Given the description of an element on the screen output the (x, y) to click on. 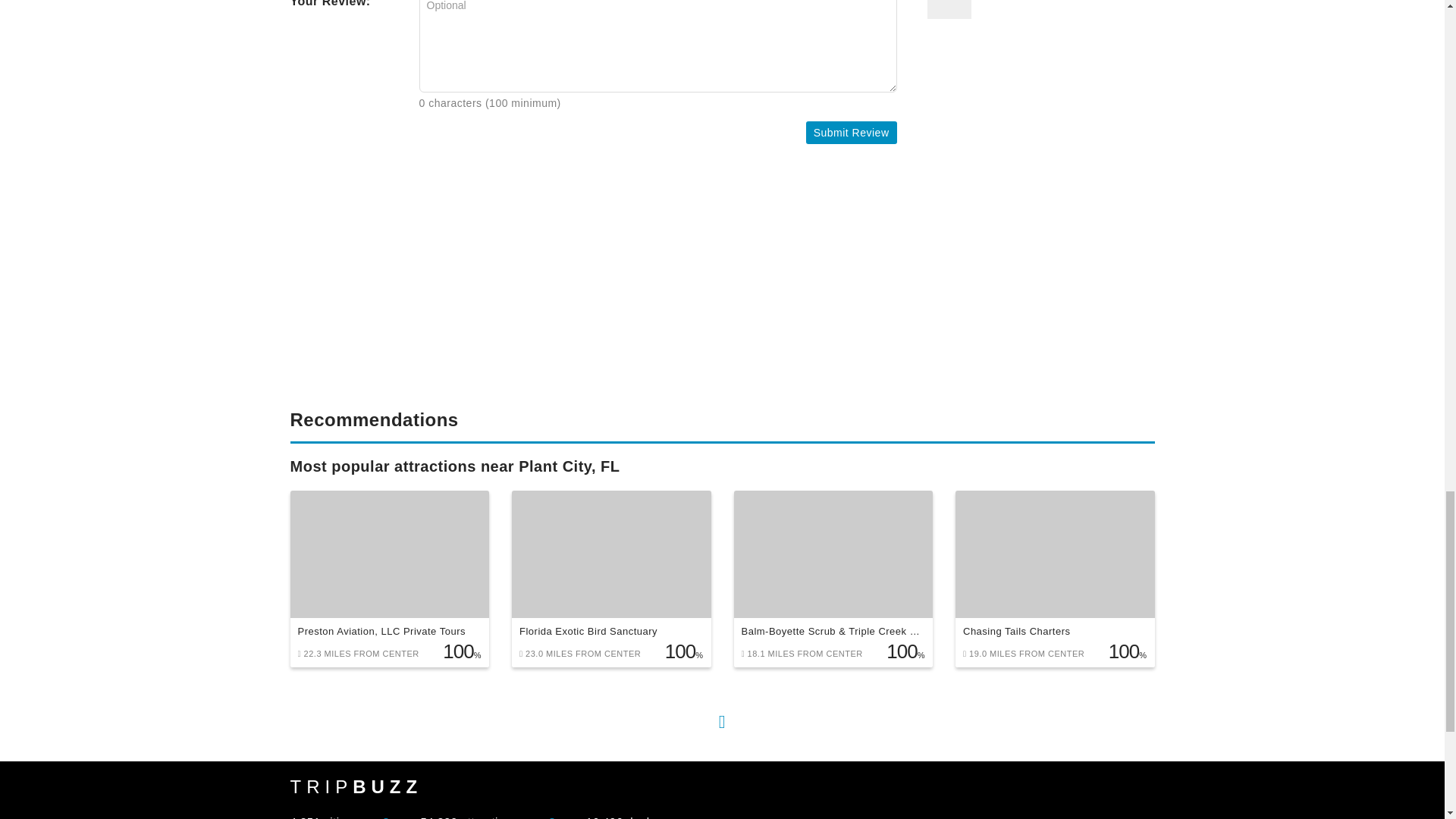
TRIPBUZZ (355, 787)
Submit Review (851, 132)
